Given the description of an element on the screen output the (x, y) to click on. 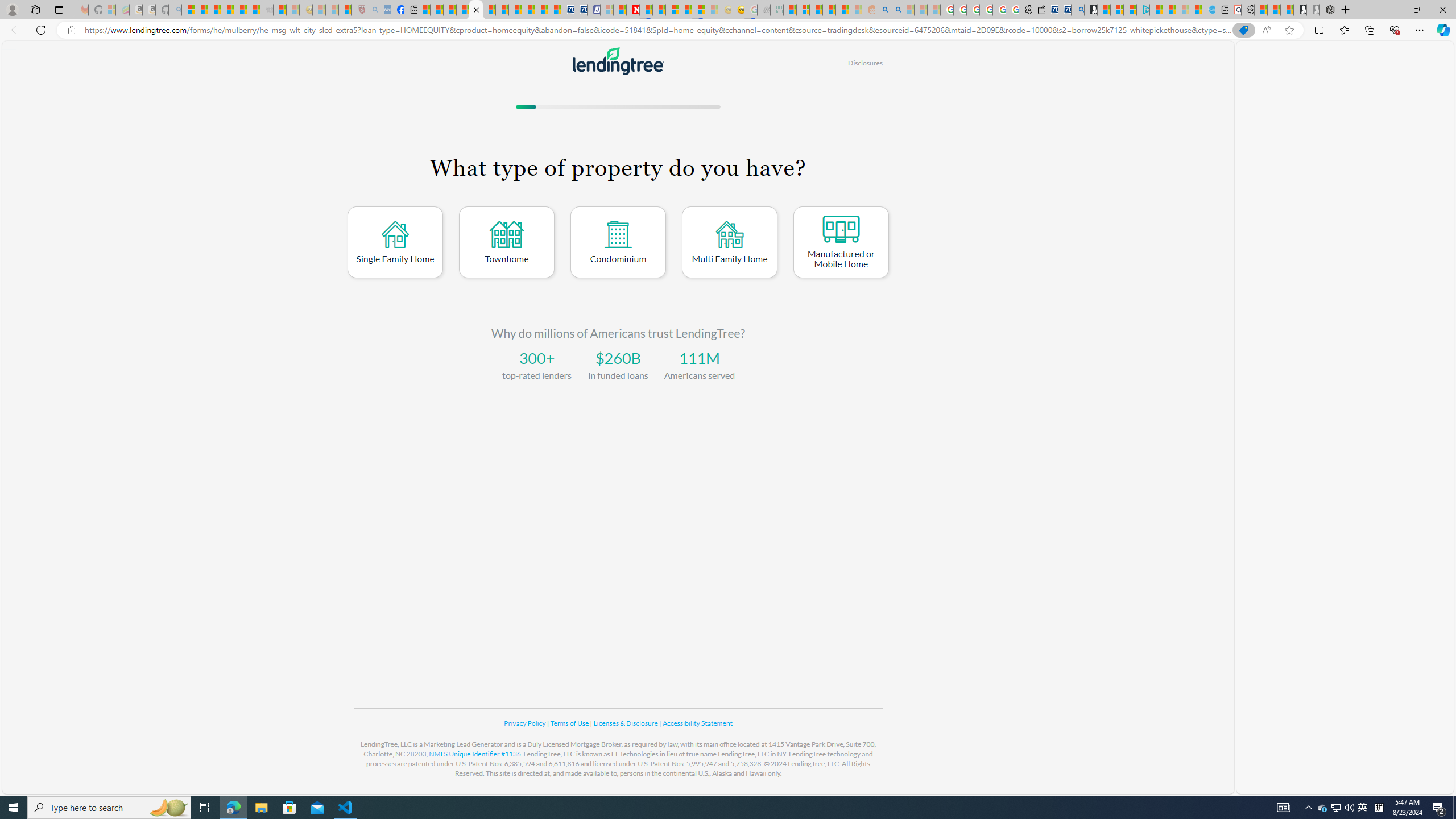
NMLS Unique Identifier #1136 (475, 753)
Local - MSN (344, 9)
